Given the description of an element on the screen output the (x, y) to click on. 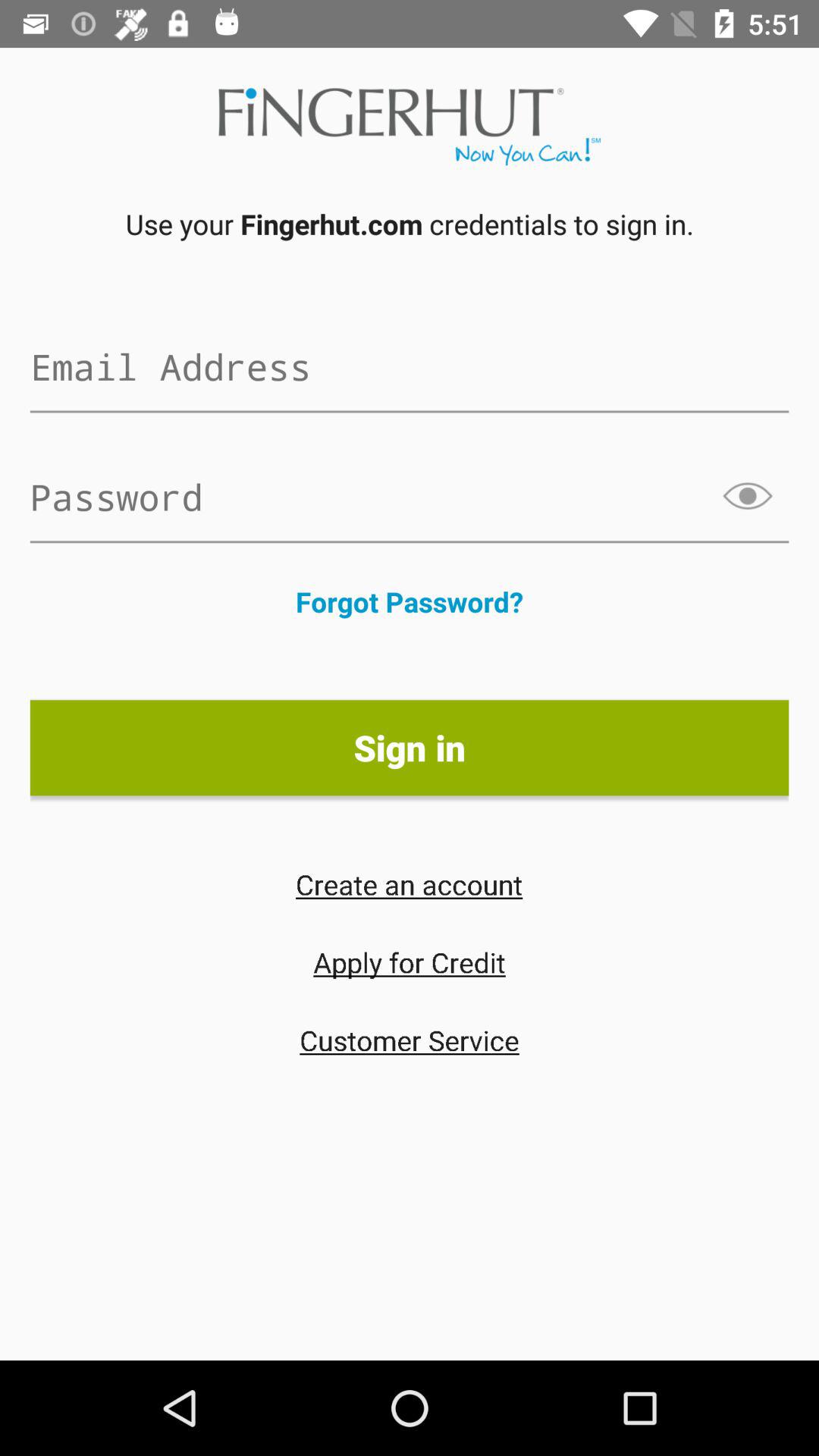
scroll until apply for credit icon (409, 962)
